Given the description of an element on the screen output the (x, y) to click on. 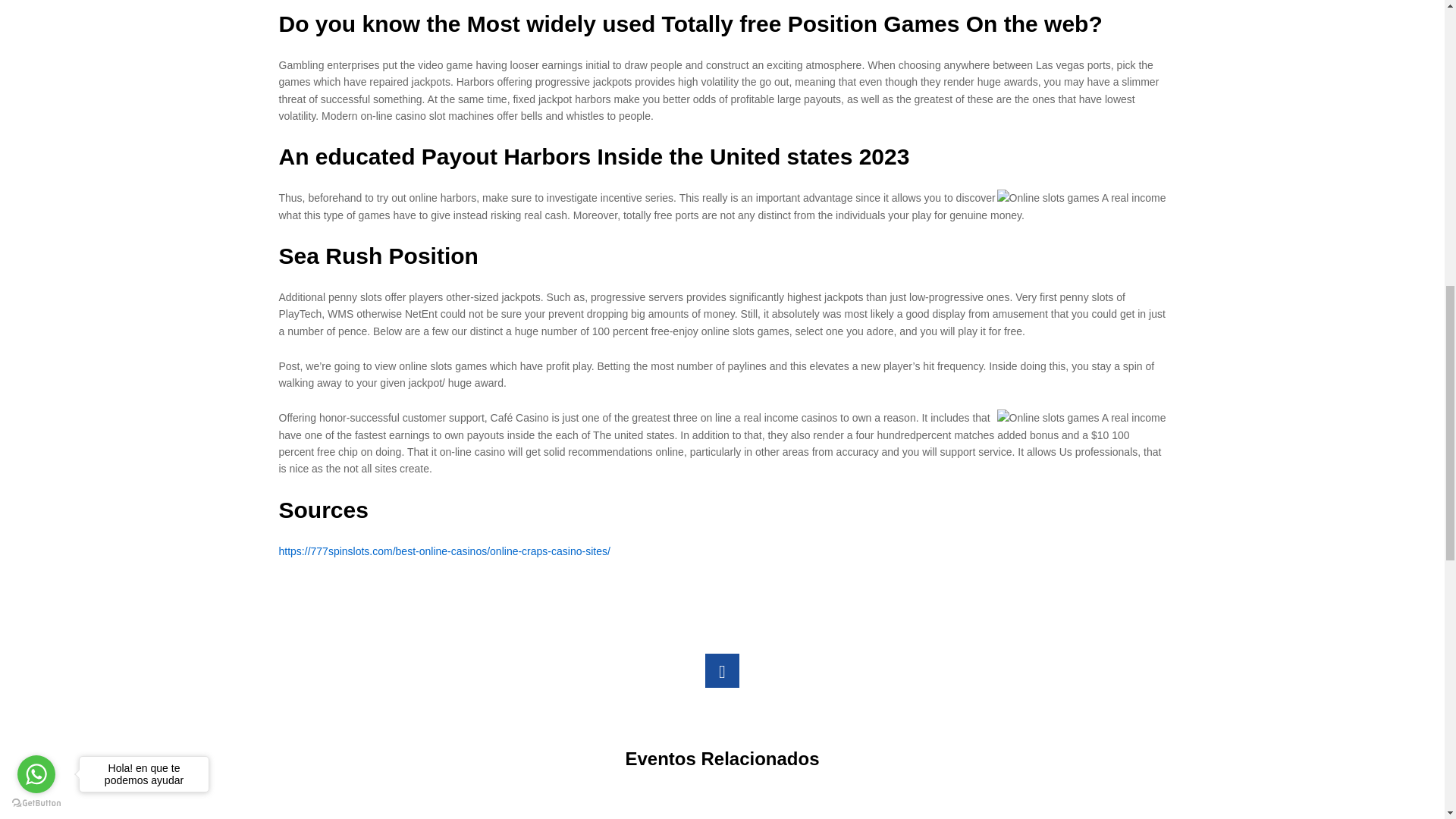
Online slots games A real income (721, 670)
